Given the description of an element on the screen output the (x, y) to click on. 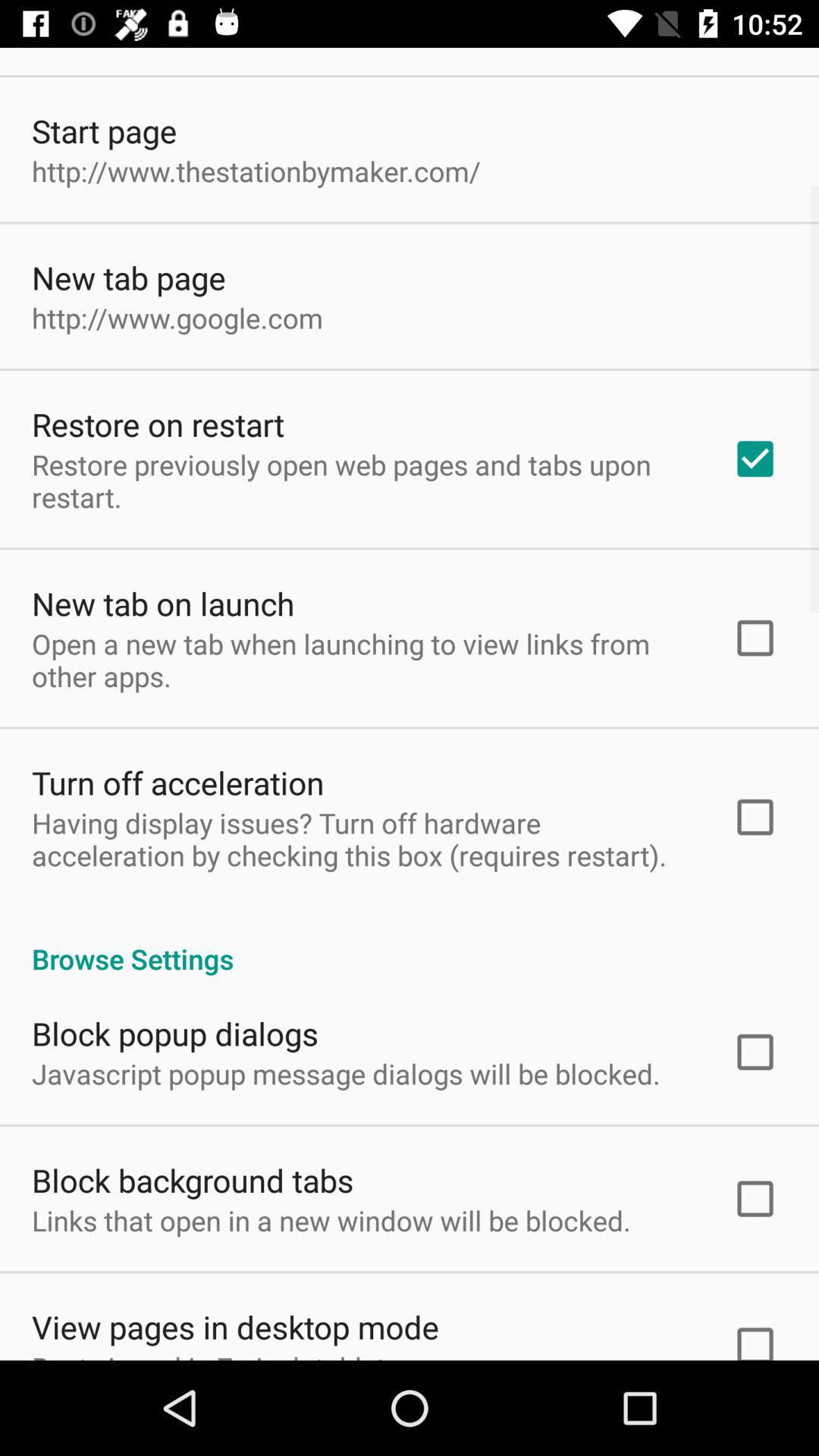
open item above the browse settings icon (361, 839)
